Given the description of an element on the screen output the (x, y) to click on. 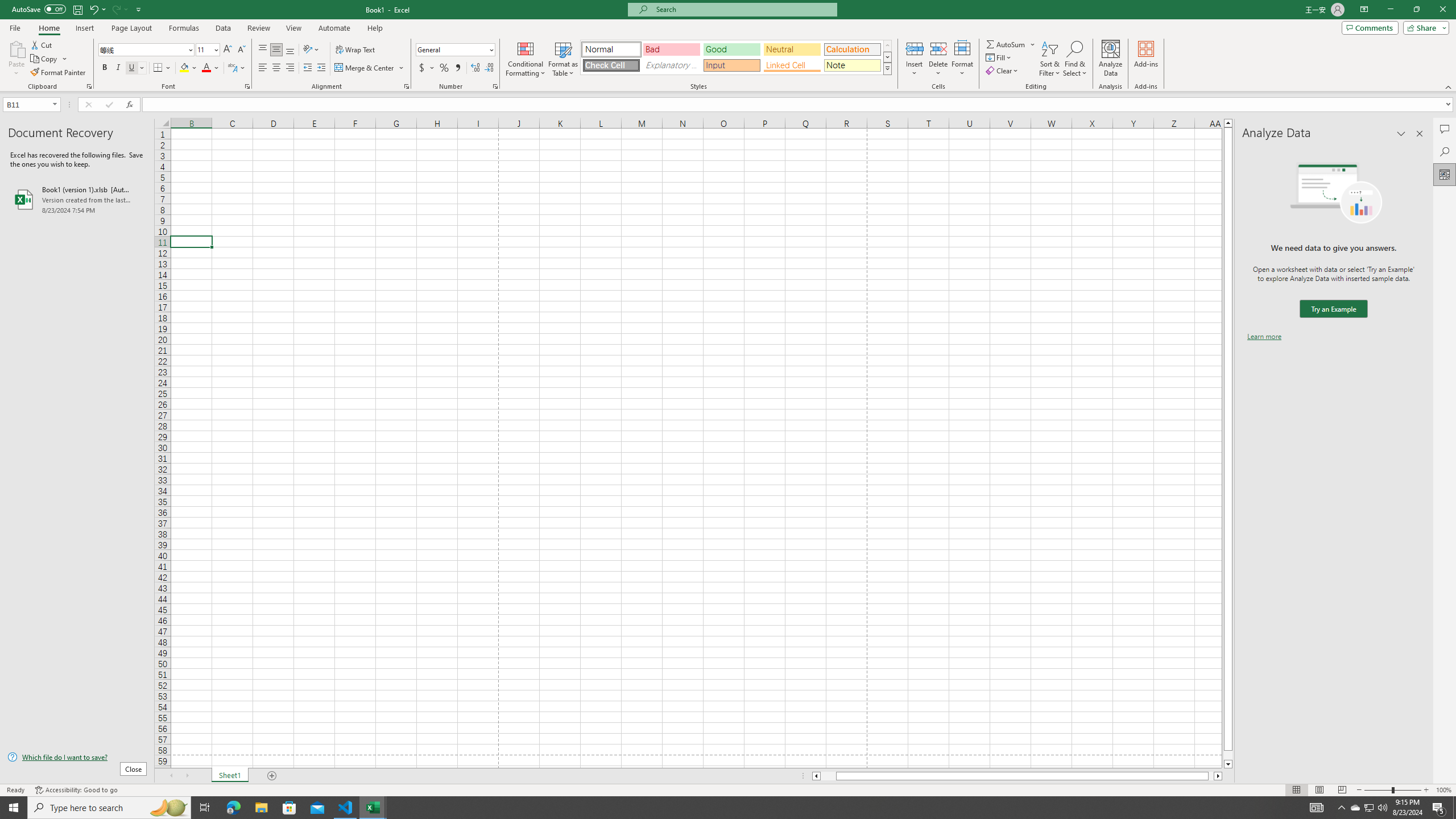
Font Size (207, 49)
Bottom Align (290, 49)
Delete (938, 58)
Underline (136, 67)
Sort & Filter (1049, 58)
Neutral (791, 49)
Analyze Data (1110, 58)
Decrease Indent (307, 67)
Input (731, 65)
Format Cell Alignment (405, 85)
